Given the description of an element on the screen output the (x, y) to click on. 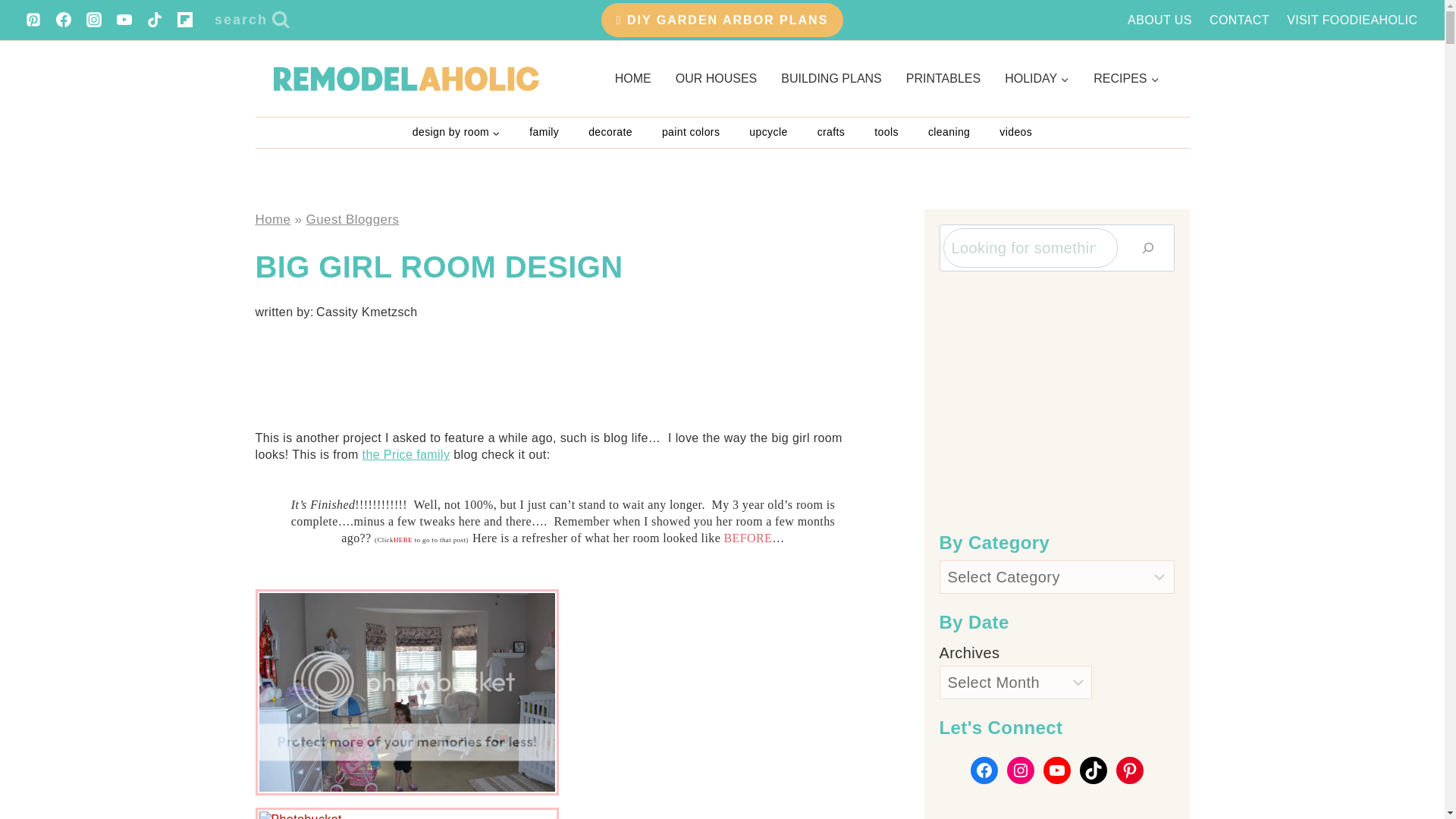
search (252, 19)
VISIT FOODIEAHOLIC (1352, 19)
ABOUT US (1160, 19)
RECIPES (1125, 78)
OUR HOUSES (716, 78)
HOME (632, 78)
BUILDING PLANS (830, 78)
HOLIDAY (1036, 78)
PRINTABLES (942, 78)
CONTACT (1238, 19)
